Given the description of an element on the screen output the (x, y) to click on. 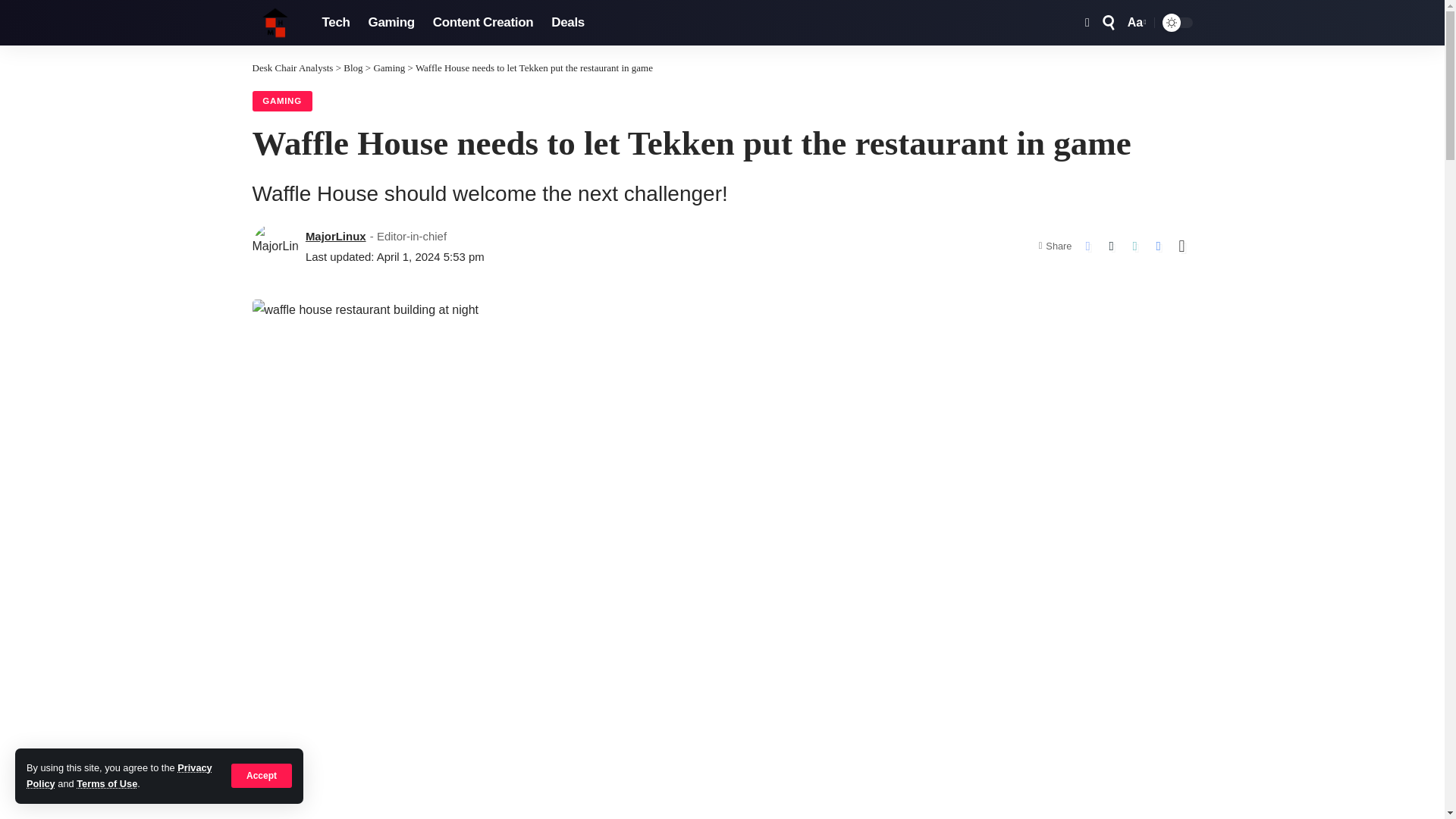
Desk Chair Analysts (292, 67)
Desk Chair Analysts (274, 22)
Tech (335, 22)
Go to the Gaming Category archives. (388, 67)
Gaming (391, 22)
Deals (567, 22)
Blog (352, 67)
MajorLinux (335, 235)
GAMING (281, 101)
Go to Blog. (352, 67)
